Given the description of an element on the screen output the (x, y) to click on. 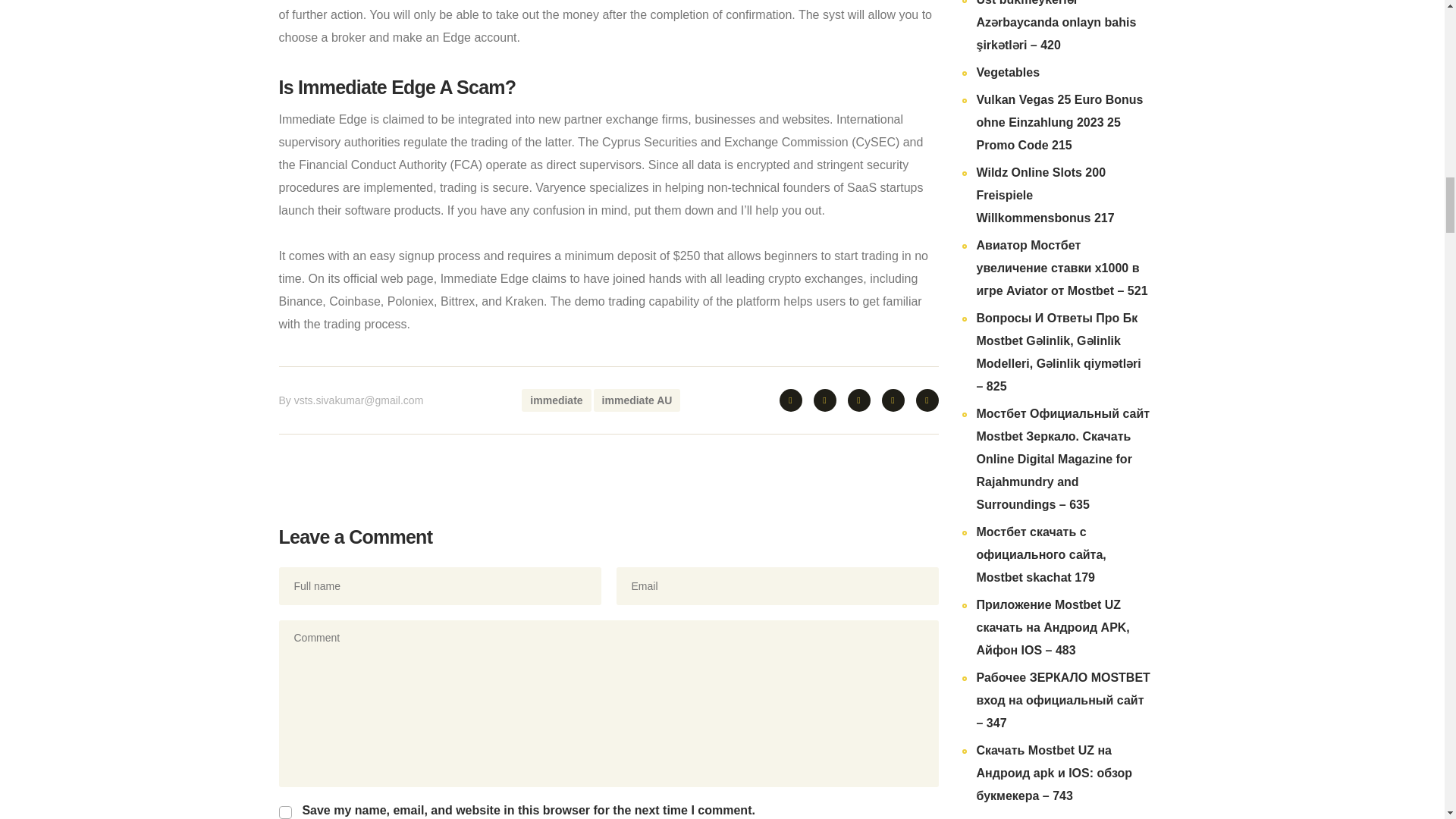
Facebook (823, 400)
Instagram (892, 400)
Twitter (790, 400)
Linkedin (927, 400)
Youtube (858, 400)
yes (285, 812)
